Given the description of an element on the screen output the (x, y) to click on. 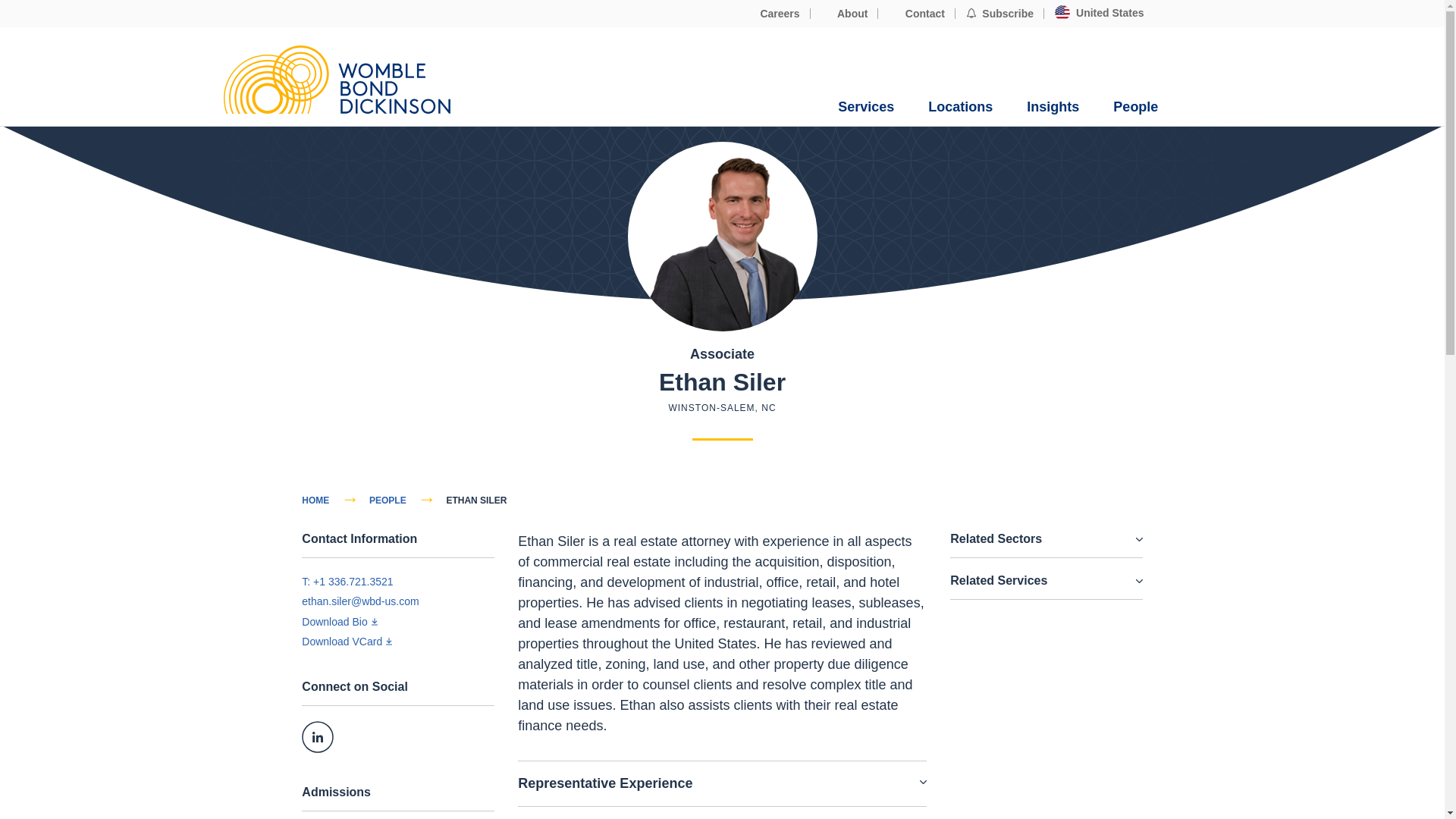
About (844, 13)
Careers (771, 13)
United States (1098, 13)
Locations (960, 107)
Services (865, 107)
Contact (916, 13)
